Given the description of an element on the screen output the (x, y) to click on. 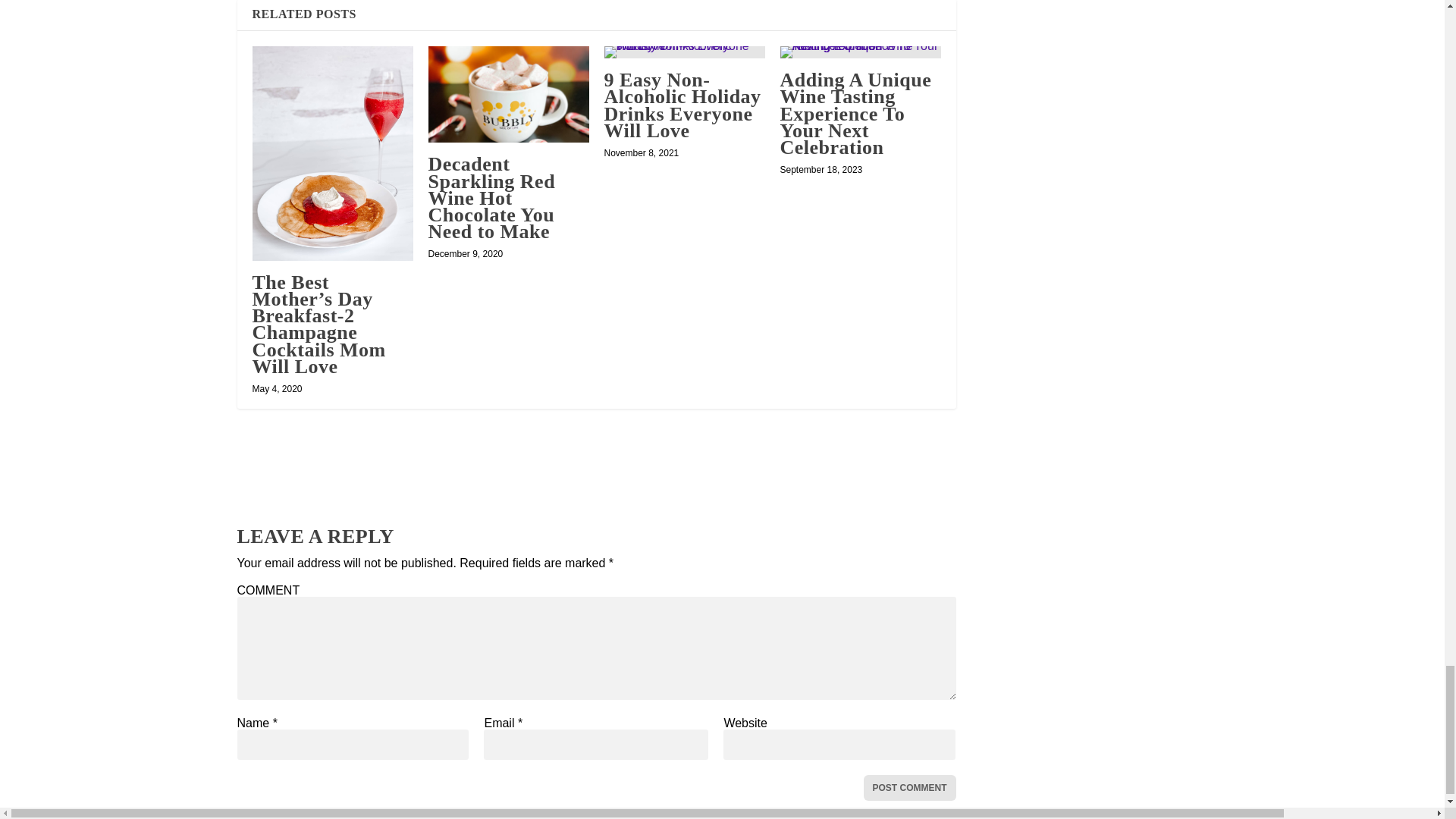
Post Comment (909, 787)
